Given the description of an element on the screen output the (x, y) to click on. 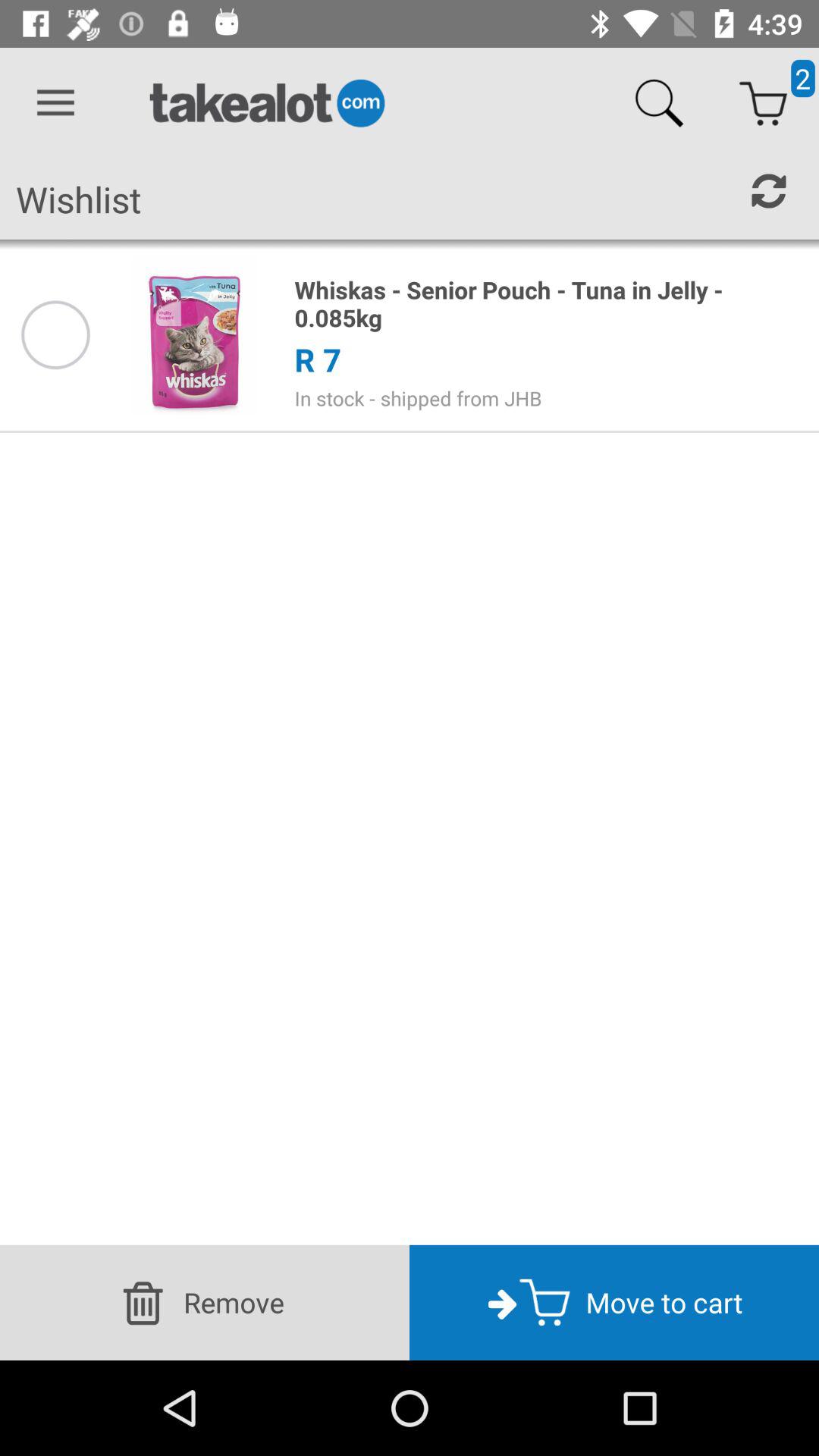
select icon above the wishlist icon (55, 103)
